Given the description of an element on the screen output the (x, y) to click on. 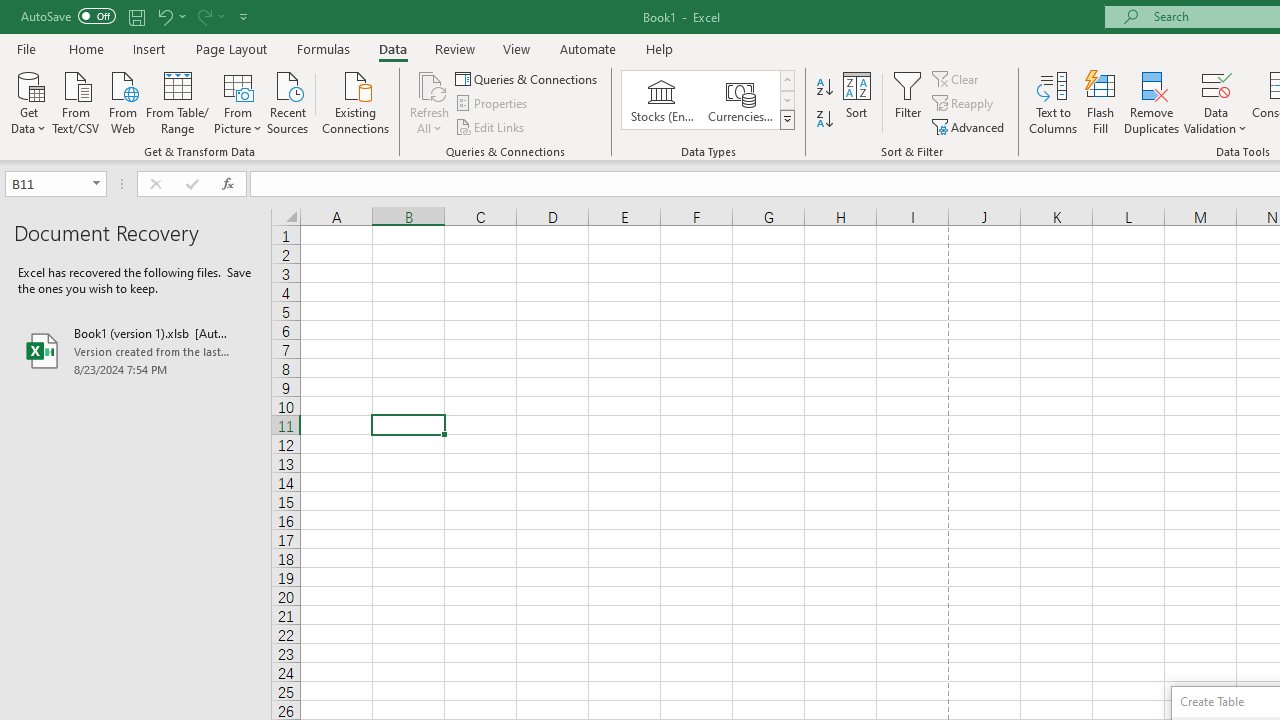
From Text/CSV (75, 101)
More Options (1215, 121)
Data (392, 48)
Recent Sources (287, 101)
Stocks (English) (662, 100)
Flash Fill (1101, 102)
Clear (957, 78)
Filter (908, 102)
Remove Duplicates (1151, 102)
Row up (786, 79)
Quick Access Toolbar (136, 16)
Queries & Connections (527, 78)
